Given the description of an element on the screen output the (x, y) to click on. 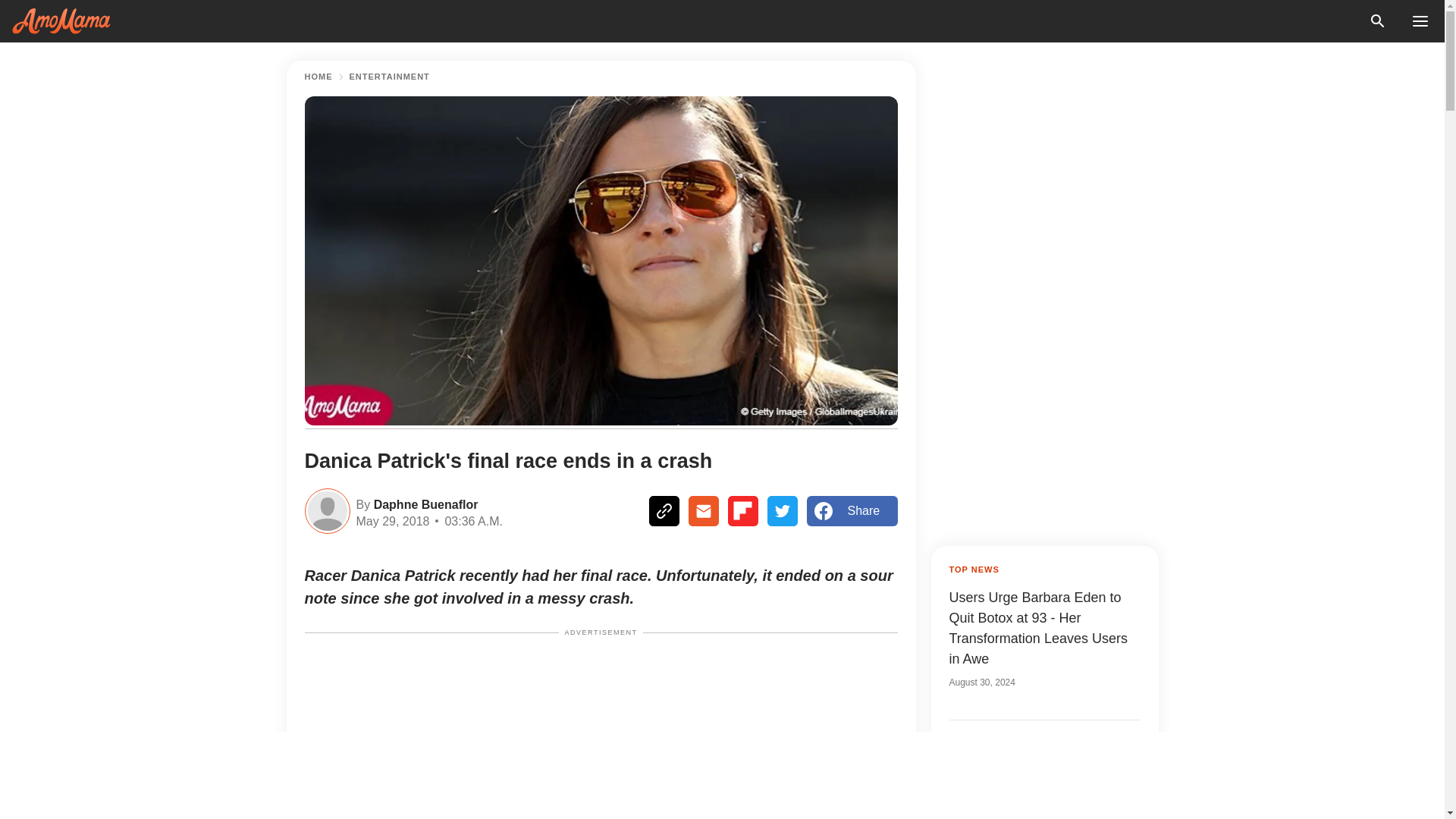
Daphne Buenaflor (423, 503)
HOME (318, 76)
ENTERTAINMENT (389, 76)
